Given the description of an element on the screen output the (x, y) to click on. 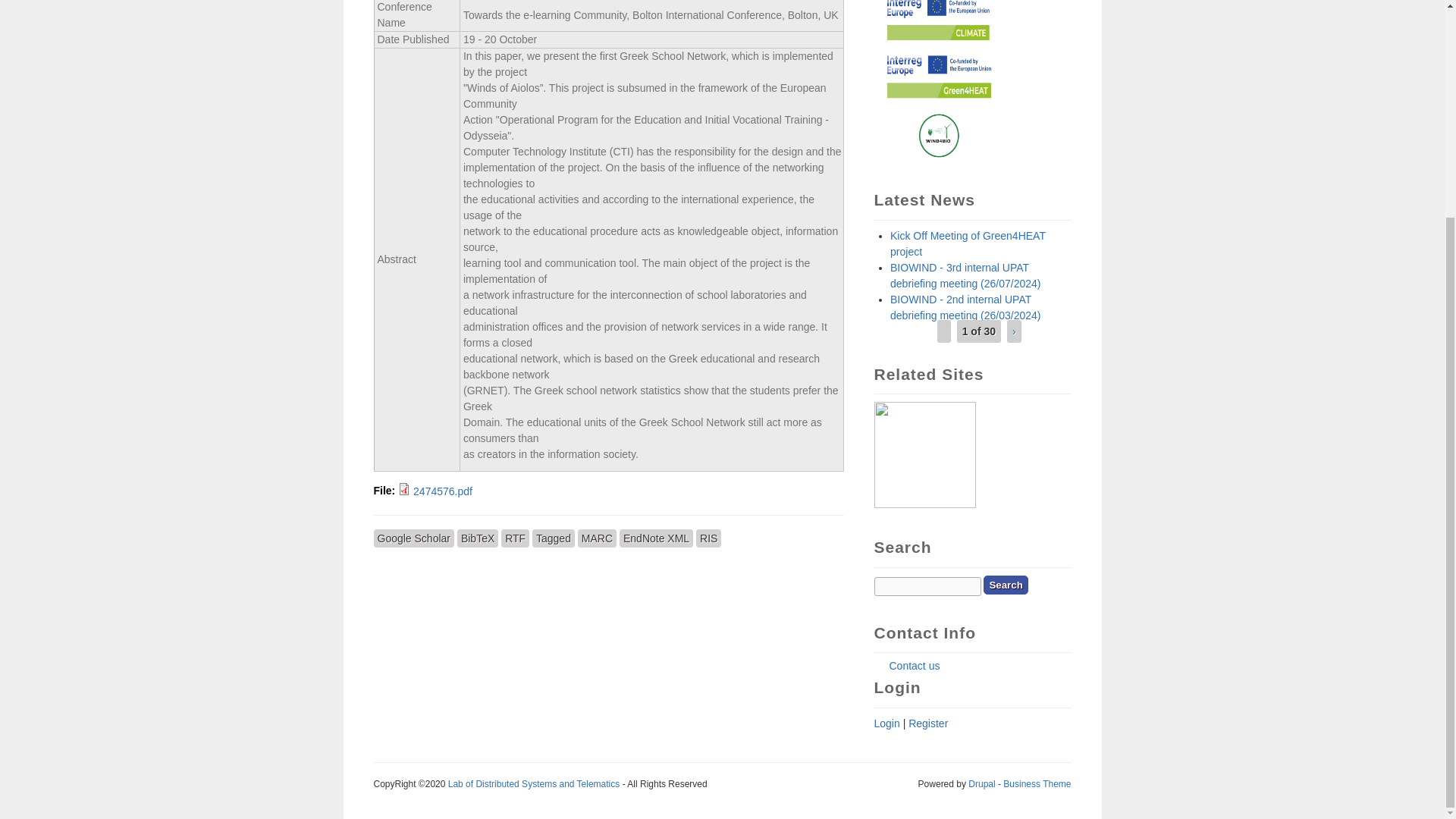
Click to download the BibTeX formatted file (477, 538)
2474576.pdf (442, 491)
Tagged (553, 538)
BibTeX (477, 538)
Google Scholar (413, 538)
Search (1005, 584)
RTF (514, 538)
Click to download the RTF formatted file (514, 538)
MARC (596, 538)
Click to search Google Scholar for this entry (413, 538)
